Given the description of an element on the screen output the (x, y) to click on. 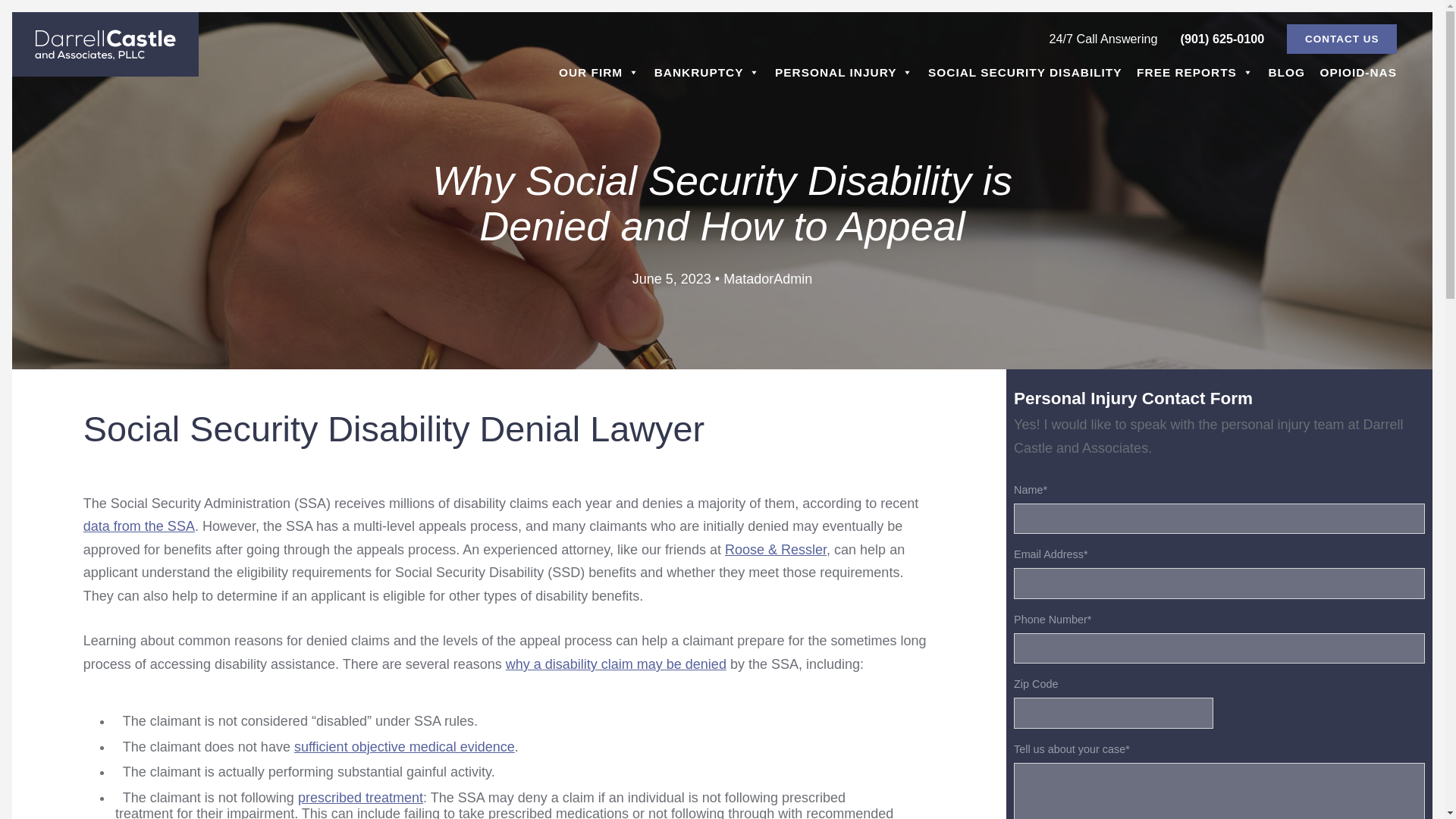
CONTACT US (1341, 39)
BANKRUPTCY (706, 72)
PERSONAL INJURY (843, 72)
OUR FIRM (599, 72)
